Given the description of an element on the screen output the (x, y) to click on. 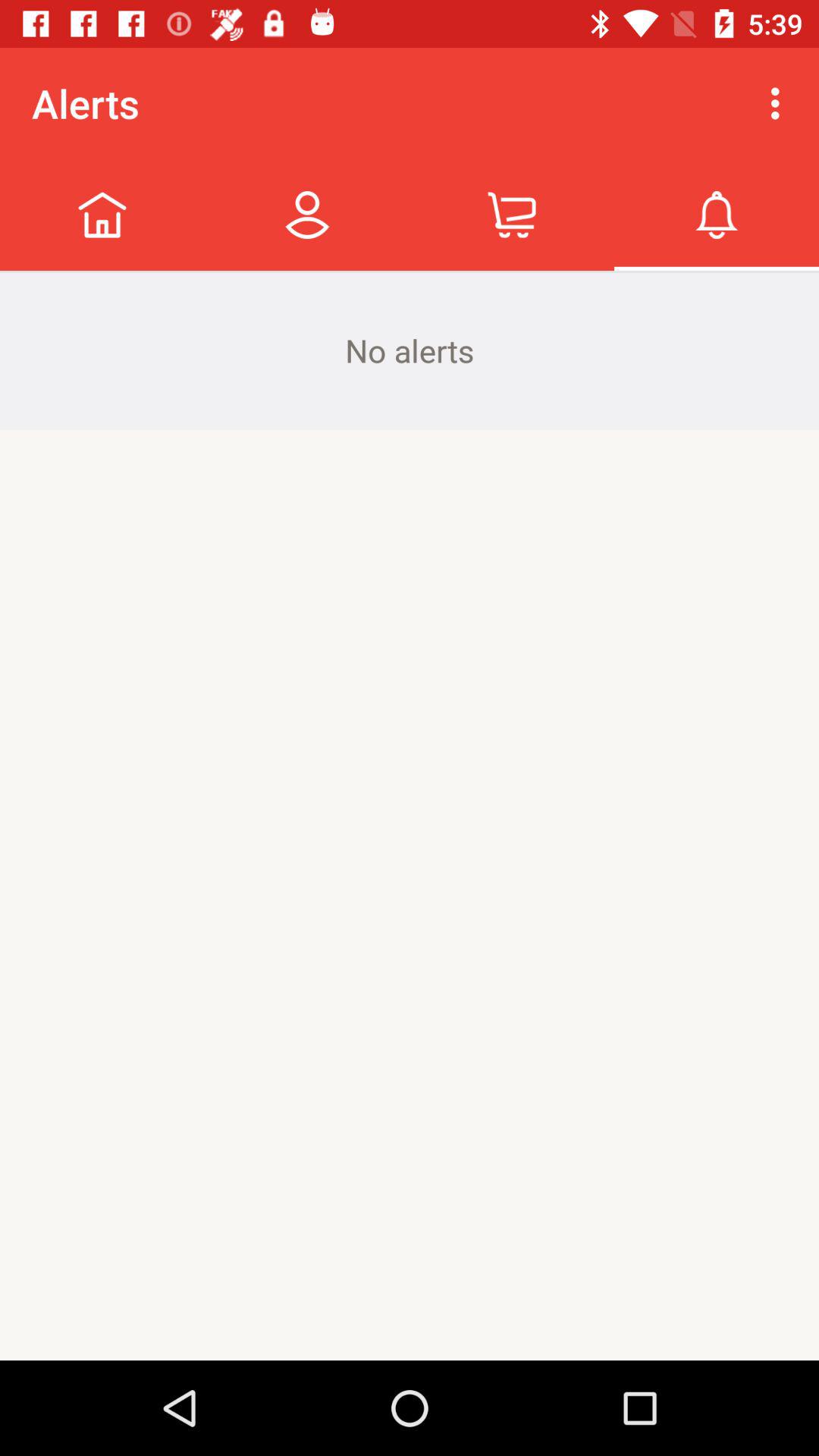
launch item to the right of alerts icon (779, 103)
